Given the description of an element on the screen output the (x, y) to click on. 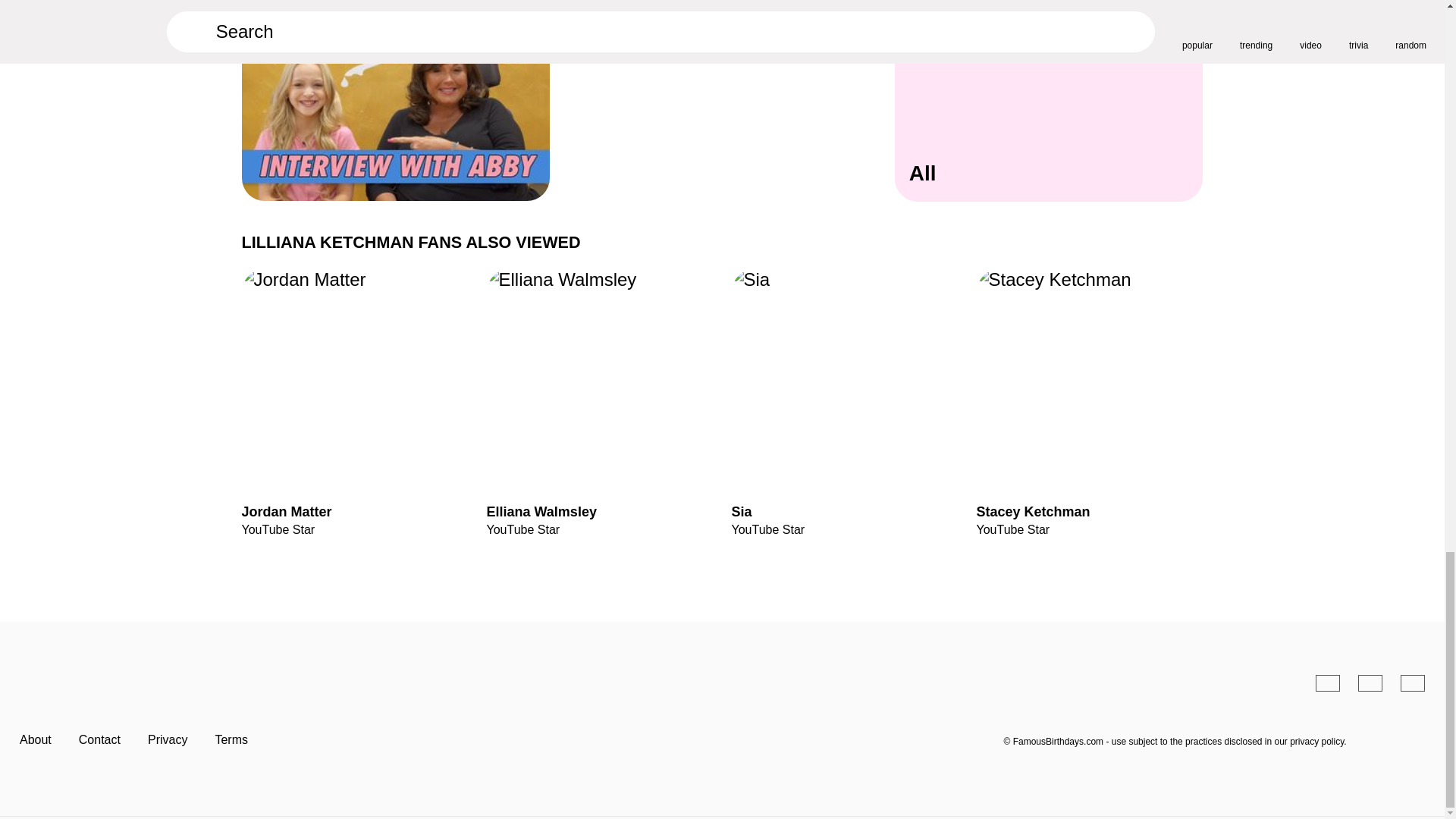
Portuguese (1369, 682)
French (1412, 682)
All (1049, 114)
Spanish (1327, 682)
